Given the description of an element on the screen output the (x, y) to click on. 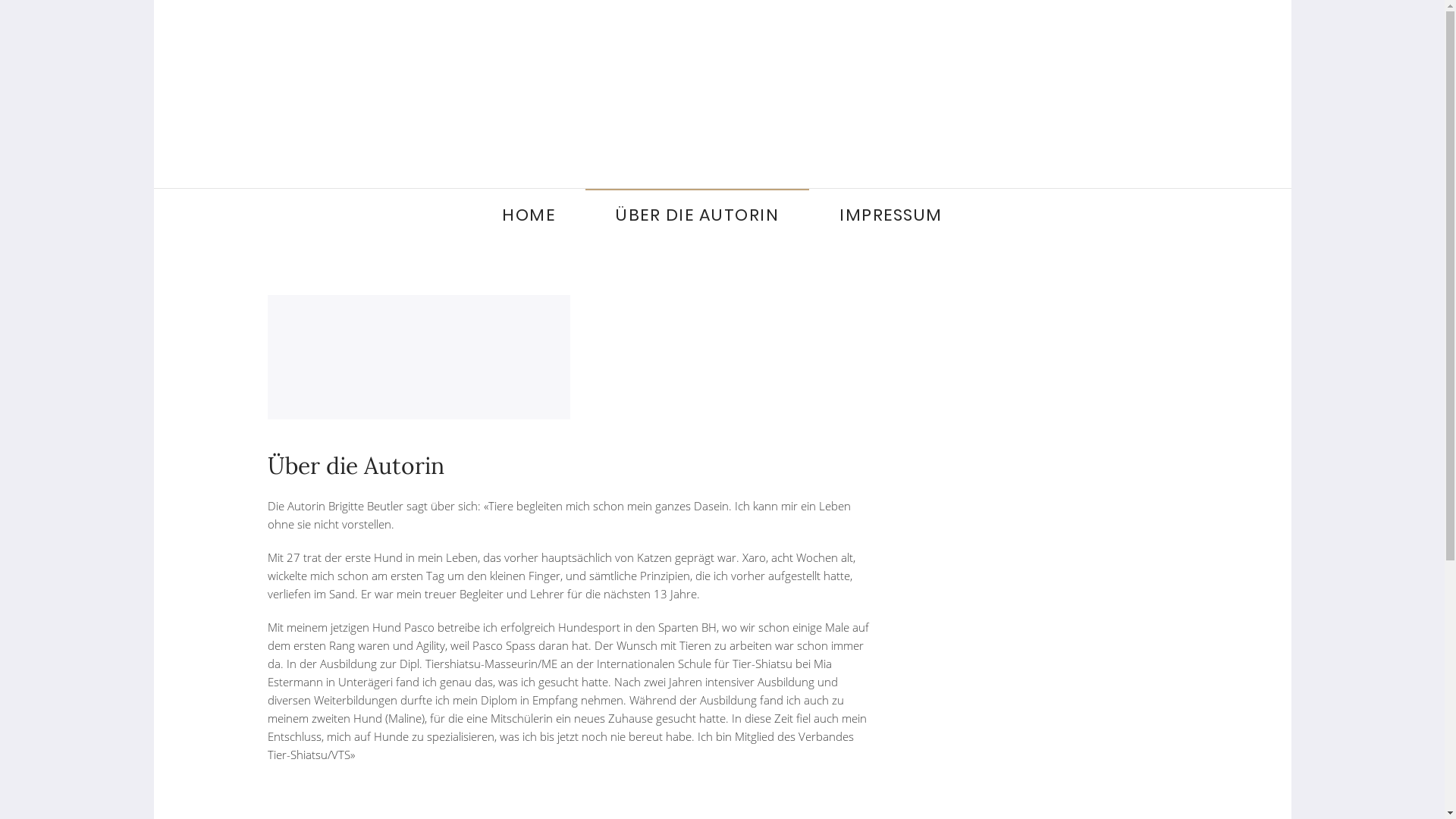
IMPRESSUM Element type: text (890, 214)
HOME Element type: text (528, 214)
